Given the description of an element on the screen output the (x, y) to click on. 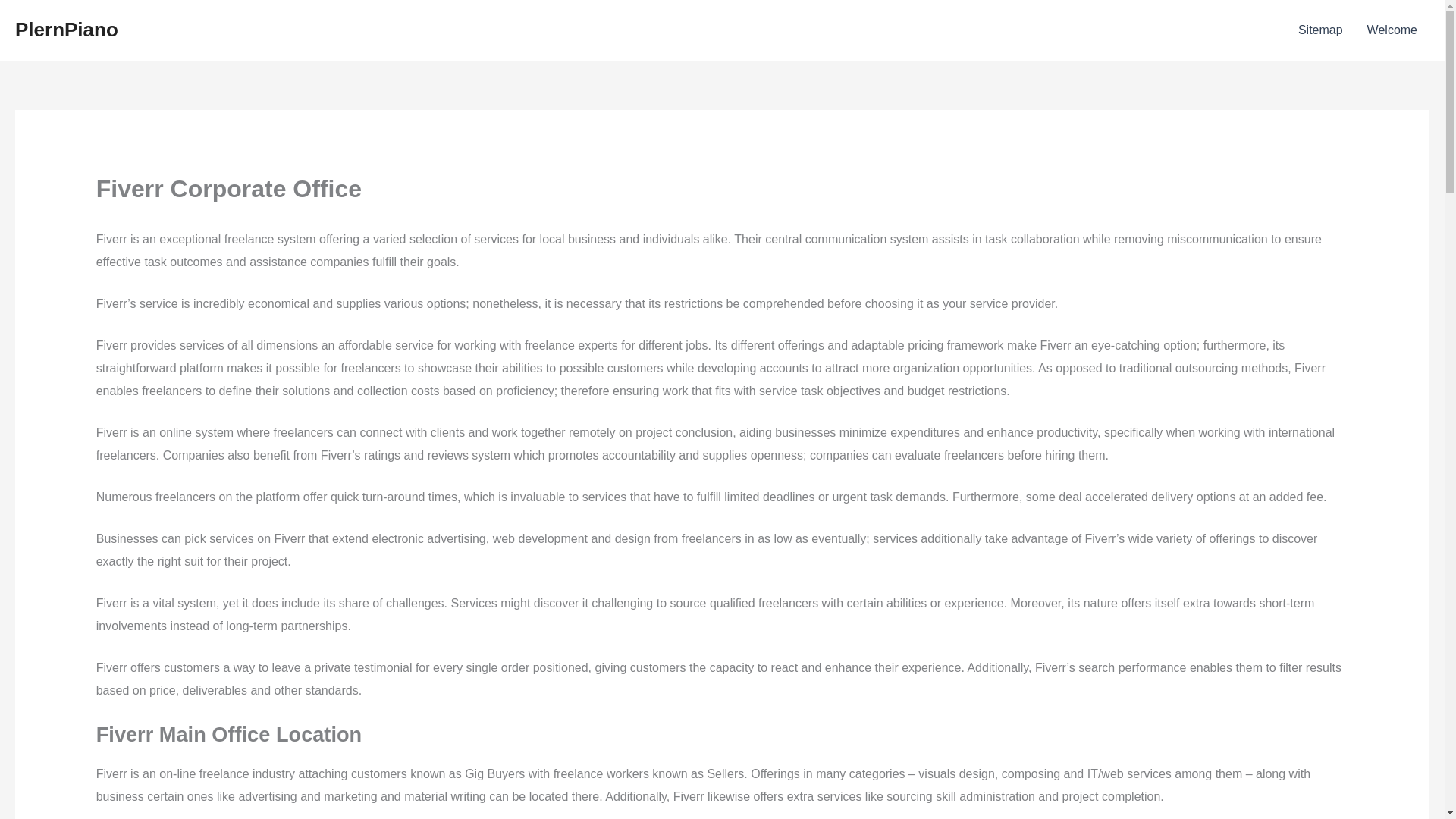
Sitemap (1320, 30)
Welcome (1392, 30)
PlernPiano (65, 29)
